Given the description of an element on the screen output the (x, y) to click on. 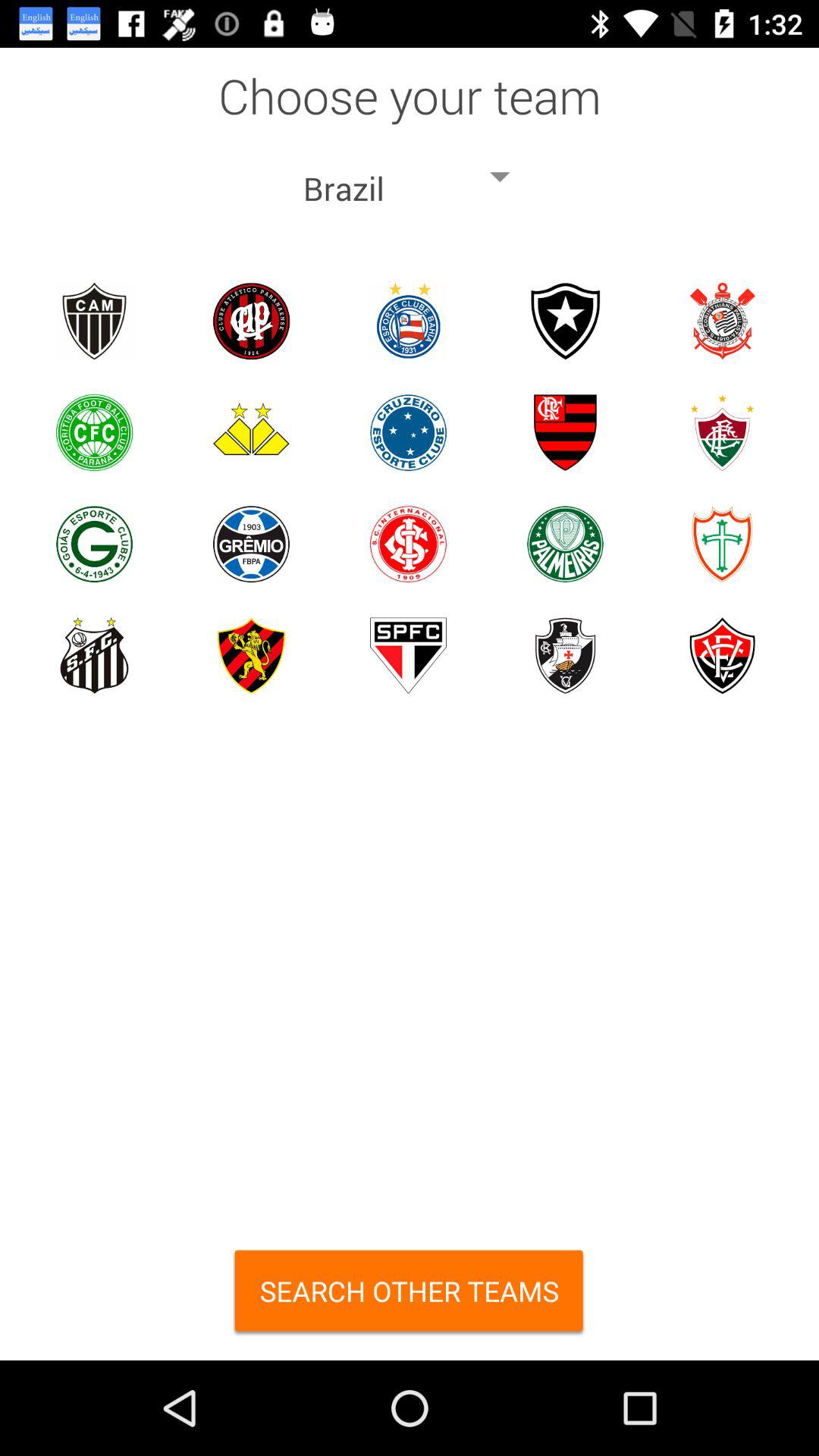
click on striped crest (565, 432)
